Given the description of an element on the screen output the (x, y) to click on. 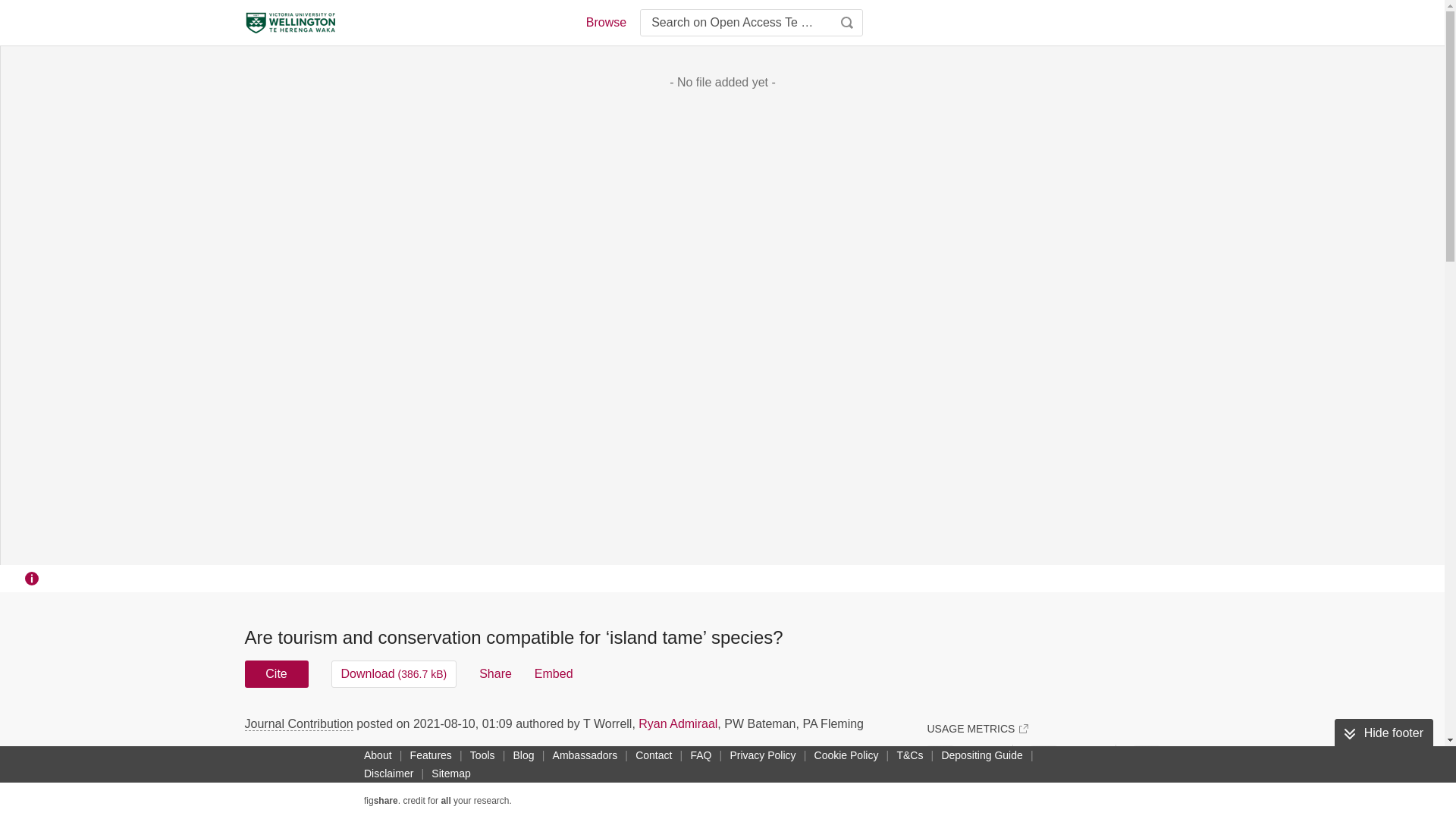
Ryan Admiraal (678, 723)
Contact (653, 755)
Embed (553, 673)
Blog (523, 755)
Share (495, 673)
Features (431, 755)
About (377, 755)
Cite (275, 673)
Tools (482, 755)
Privacy Policy (762, 755)
Browse (605, 22)
Ambassadors (585, 755)
USAGE METRICS (976, 728)
FAQ (700, 755)
Hide footer (1383, 733)
